Given the description of an element on the screen output the (x, y) to click on. 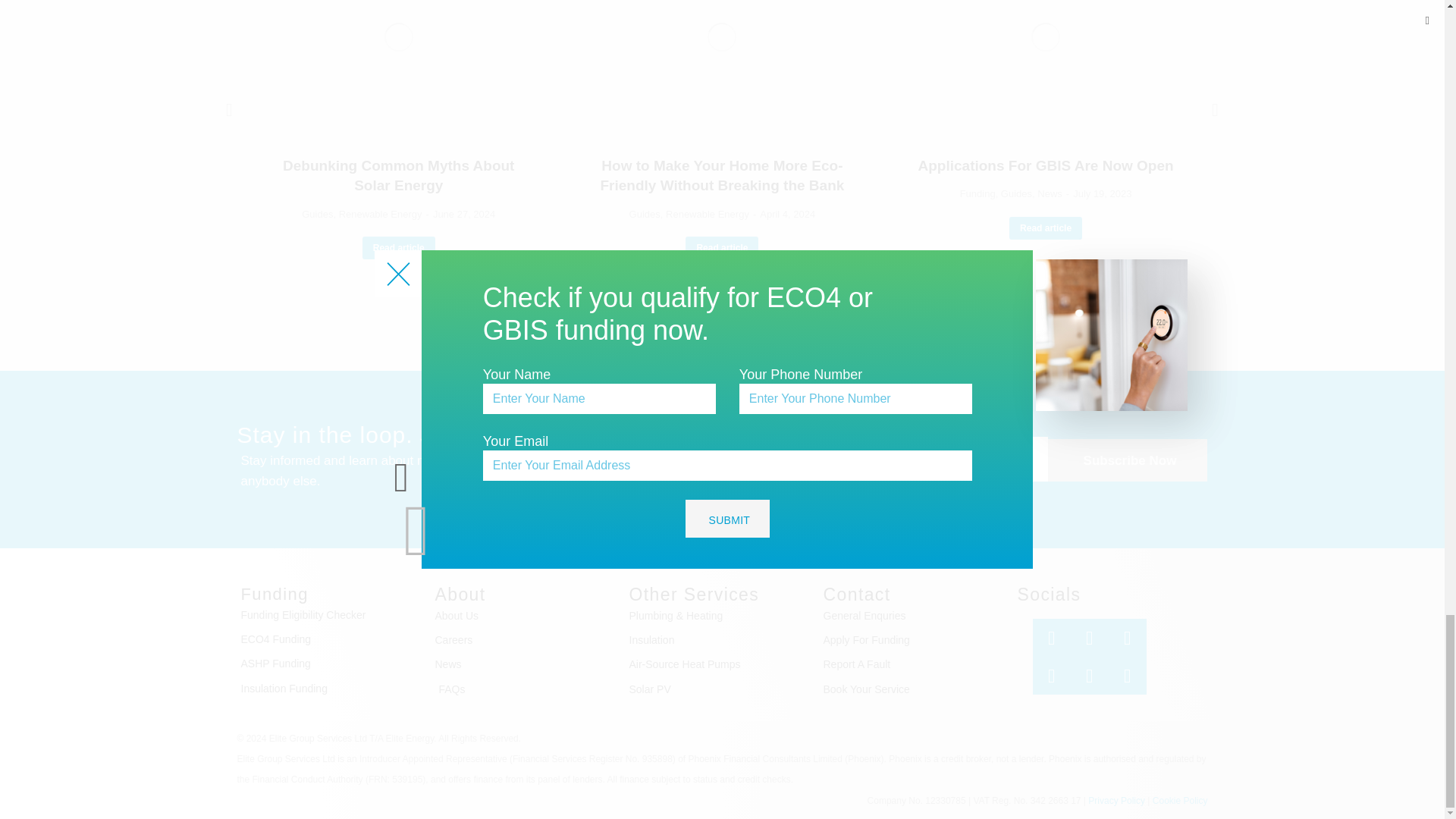
2:50 pm (461, 214)
Debunking Common Myths About Solar Energy (398, 176)
10:07 am (783, 214)
